Given the description of an element on the screen output the (x, y) to click on. 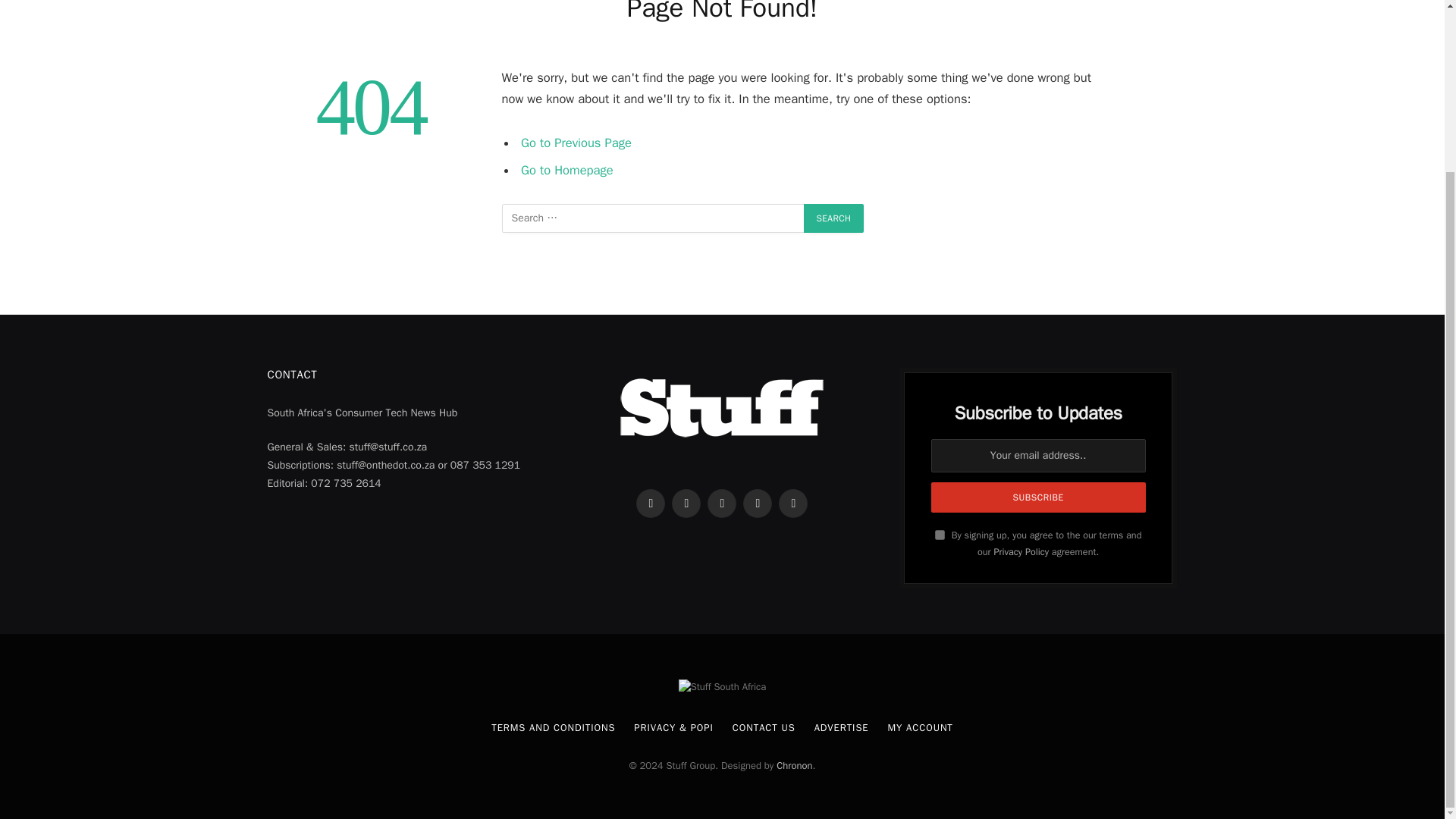
Subscribe (1038, 497)
on (939, 534)
Search (833, 217)
Search (833, 217)
